Given the description of an element on the screen output the (x, y) to click on. 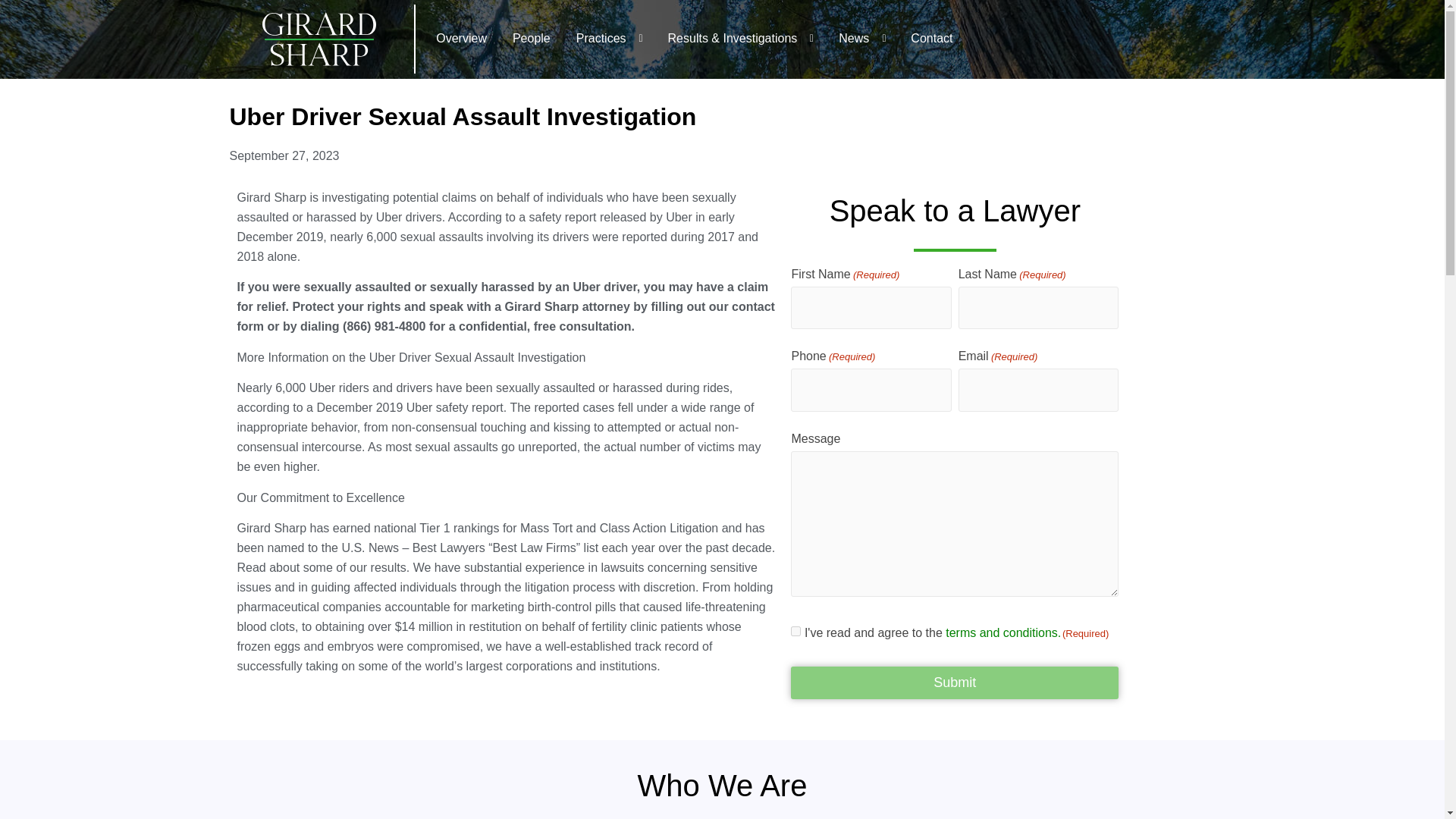
Practices (595, 38)
Submit (954, 682)
News (848, 38)
Overview (455, 38)
1 (795, 631)
Contact (925, 38)
People (525, 38)
